Given the description of an element on the screen output the (x, y) to click on. 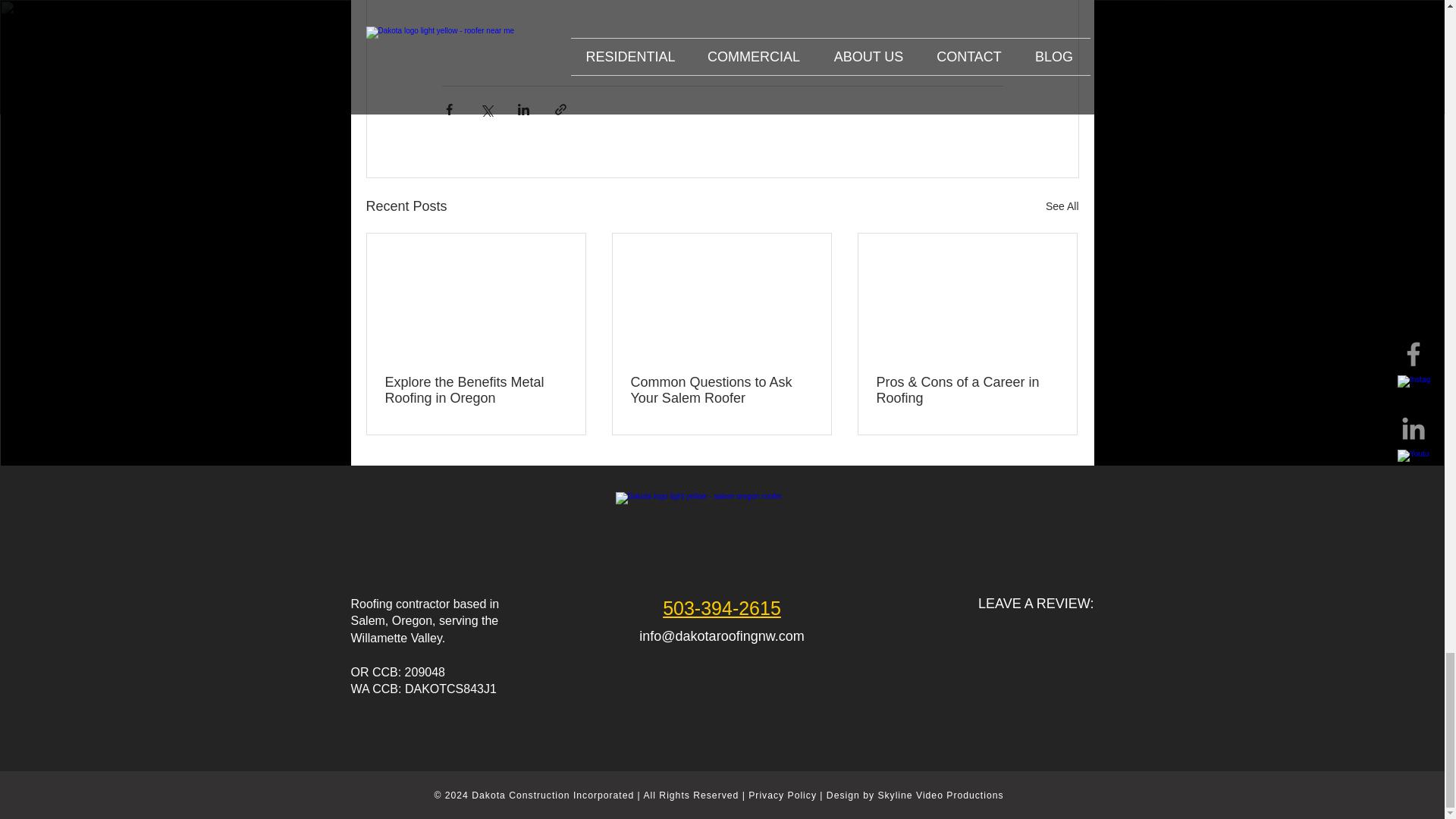
Skyline Video Productions (940, 795)
503-394-2615 (721, 608)
Common Questions to Ask Your Salem Roofer (721, 390)
See All (1061, 206)
Privacy Policy (782, 795)
Explore the Benefits Metal Roofing in Oregon (476, 390)
